Given the description of an element on the screen output the (x, y) to click on. 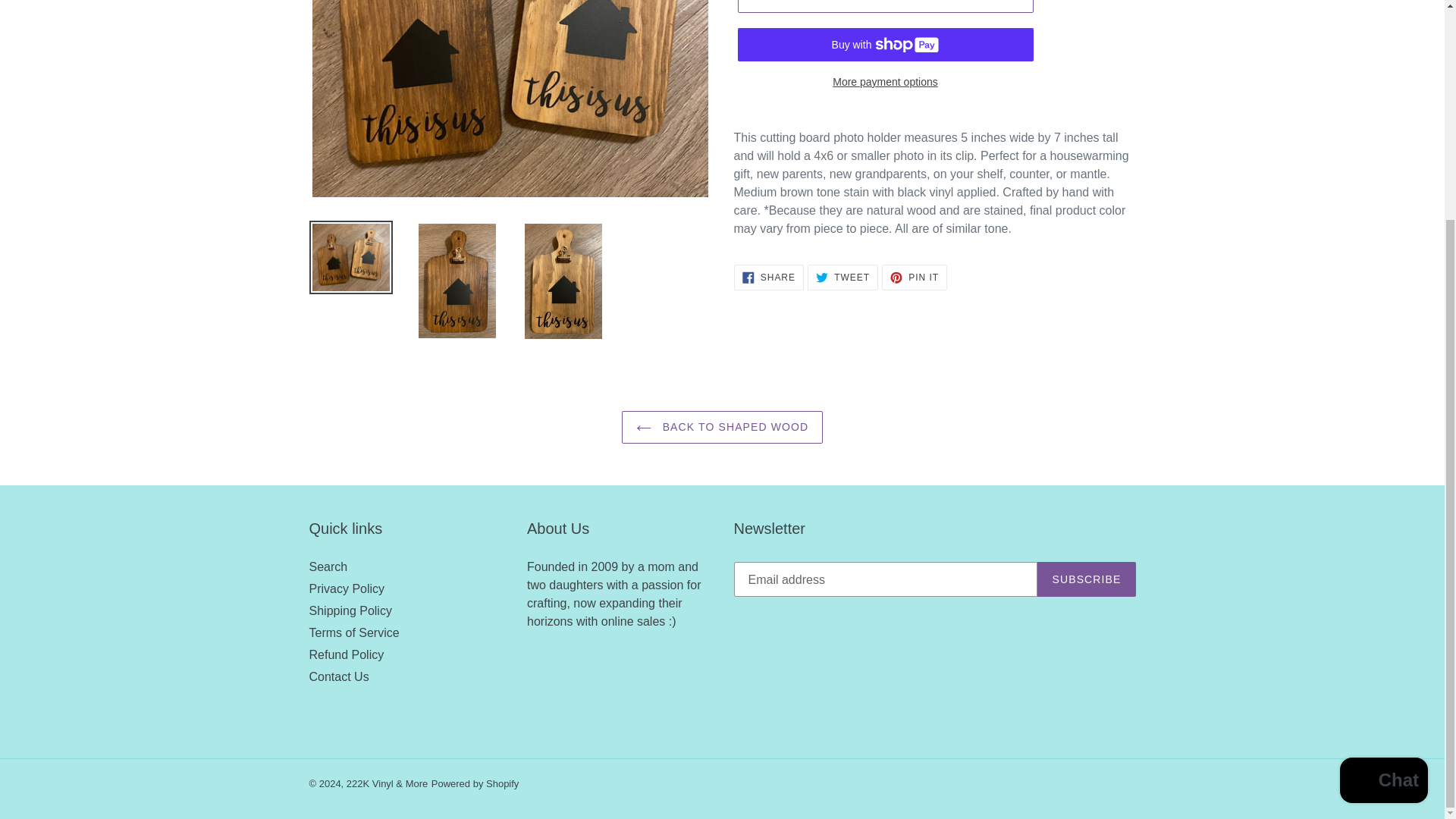
SUBSCRIBE (914, 277)
Refund Policy (1085, 579)
More payment options (346, 654)
Search (884, 81)
BACK TO SHAPED WOOD (327, 566)
Privacy Policy (722, 427)
Shipping Policy (346, 588)
Terms of Service (349, 610)
